Given the description of an element on the screen output the (x, y) to click on. 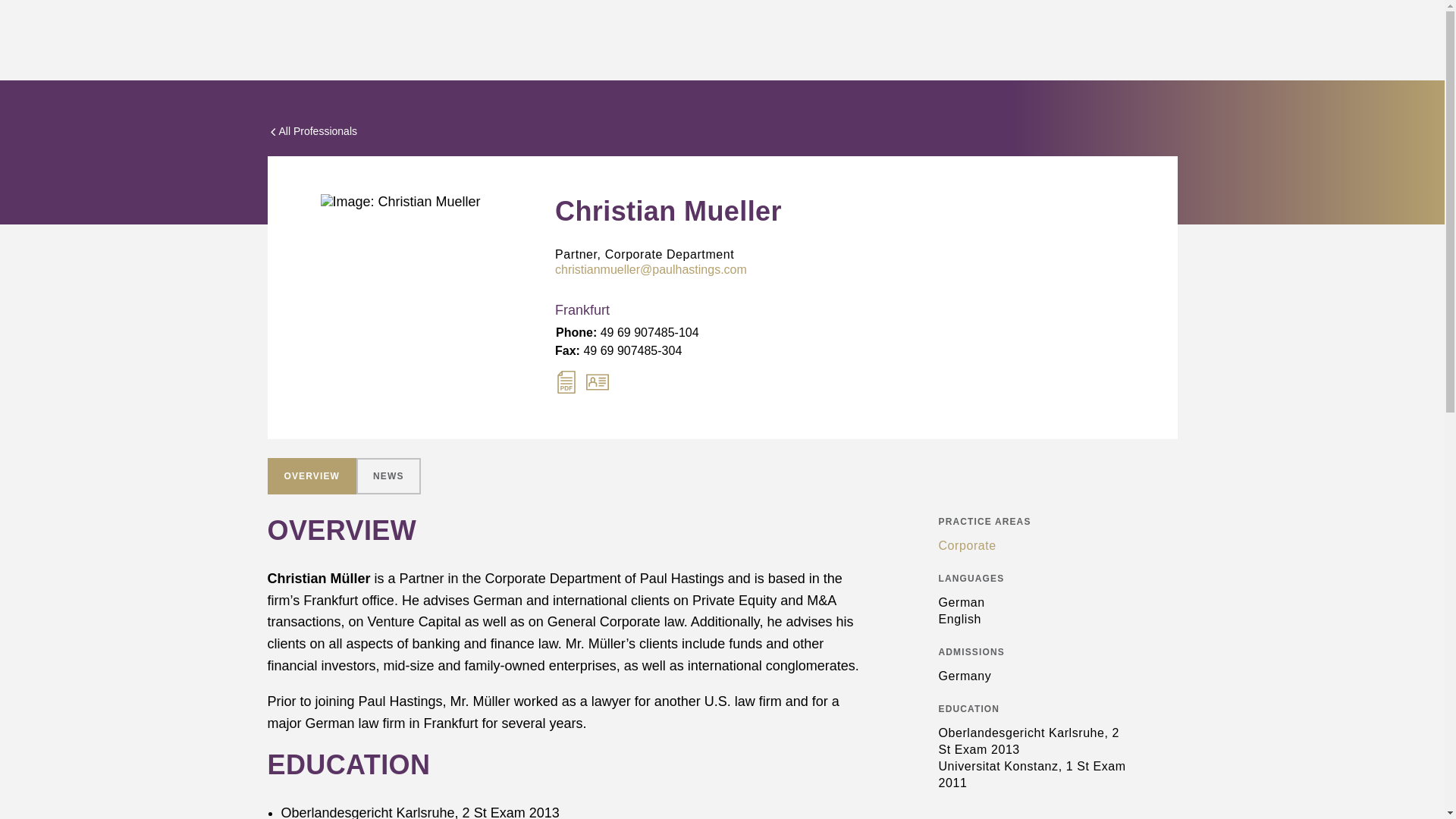
Phone: 49 69 907485-104 (627, 332)
OVERVIEW (311, 475)
NEWS (388, 475)
Frankfurt (645, 310)
Corporate (1033, 545)
